Given the description of an element on the screen output the (x, y) to click on. 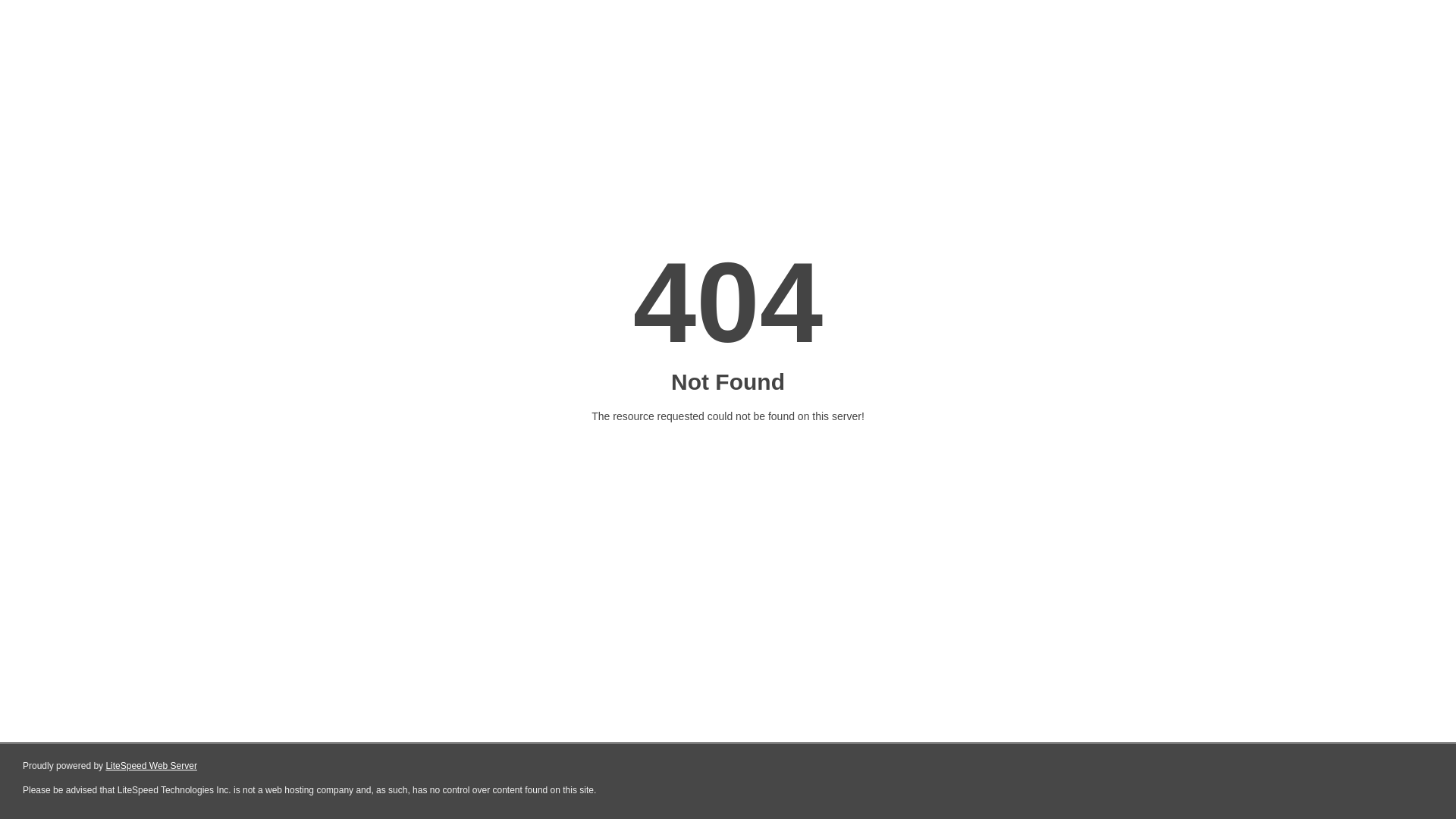
LiteSpeed Web Server Element type: text (151, 765)
